Given the description of an element on the screen output the (x, y) to click on. 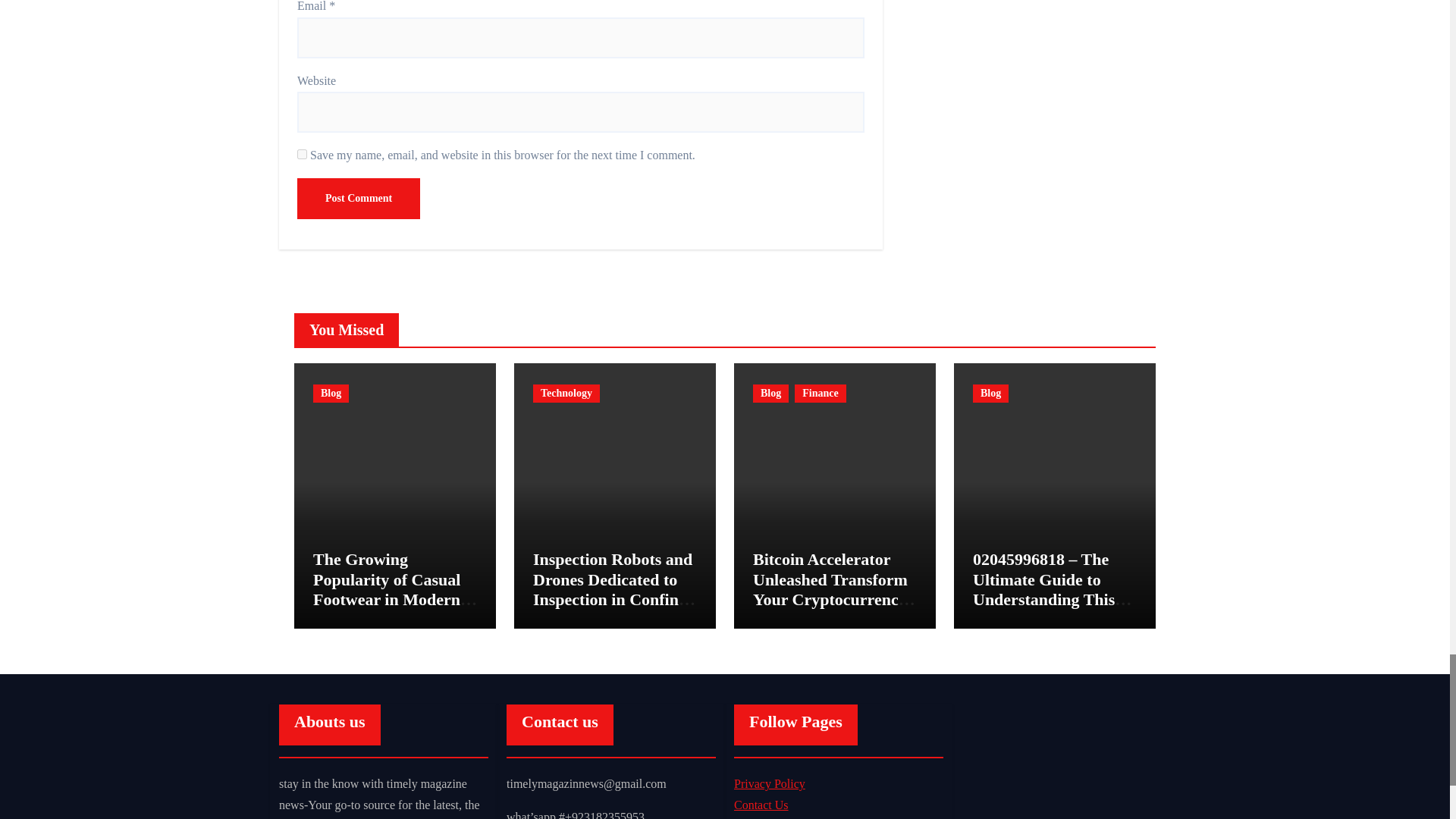
yes (302, 153)
Post Comment (358, 198)
